Given the description of an element on the screen output the (x, y) to click on. 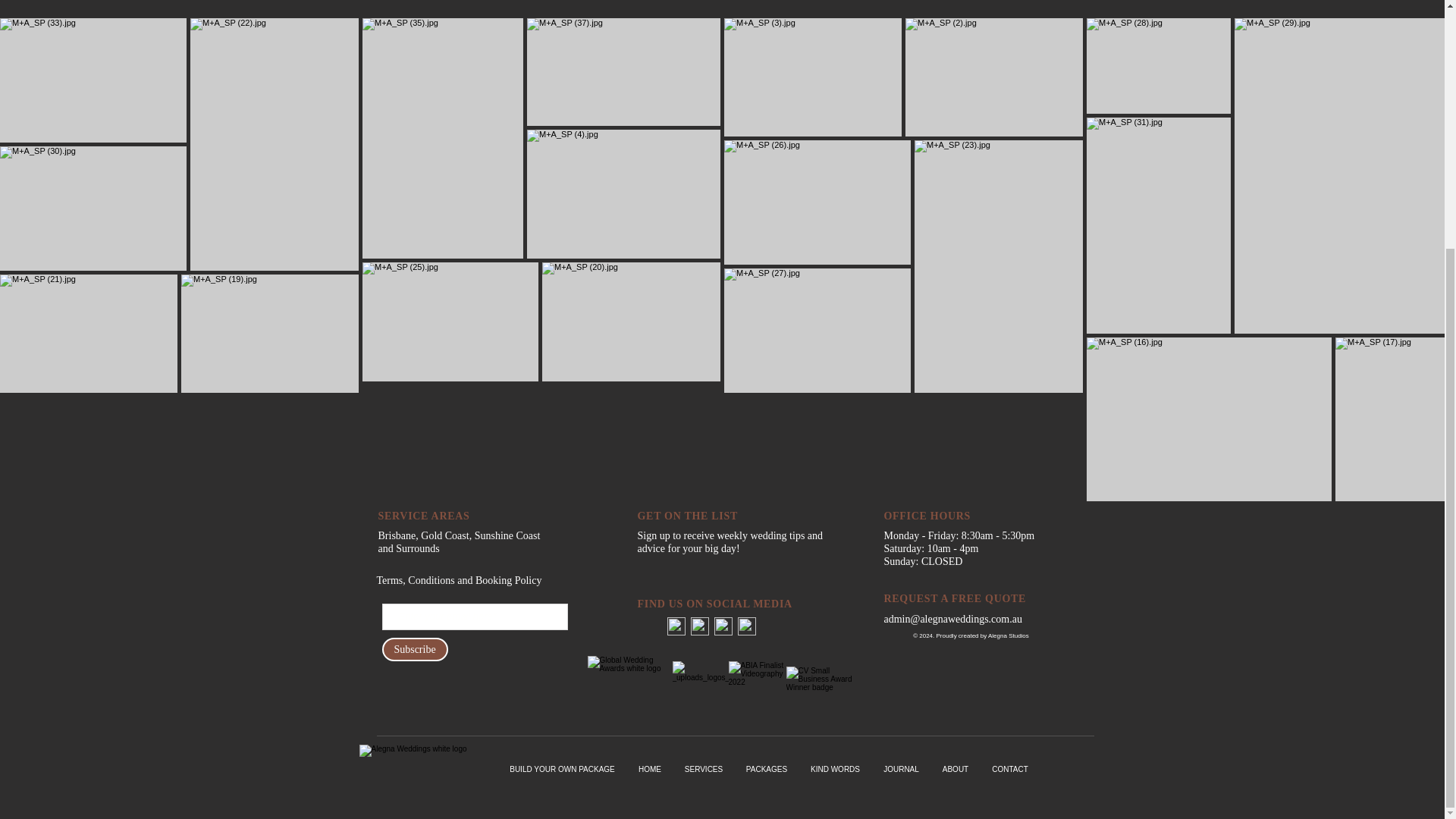
BUILD YOUR OWN PACKAGE (561, 769)
HOME (649, 769)
JOURNAL (901, 769)
Brisbane (395, 535)
CONTACT (1009, 769)
Subscribe (414, 649)
PACKAGES (765, 769)
weddings.com.au (984, 618)
ABOUT (955, 769)
Terms, Conditions and Booking Policy (458, 580)
KIND WORDS (835, 769)
